Given the description of an element on the screen output the (x, y) to click on. 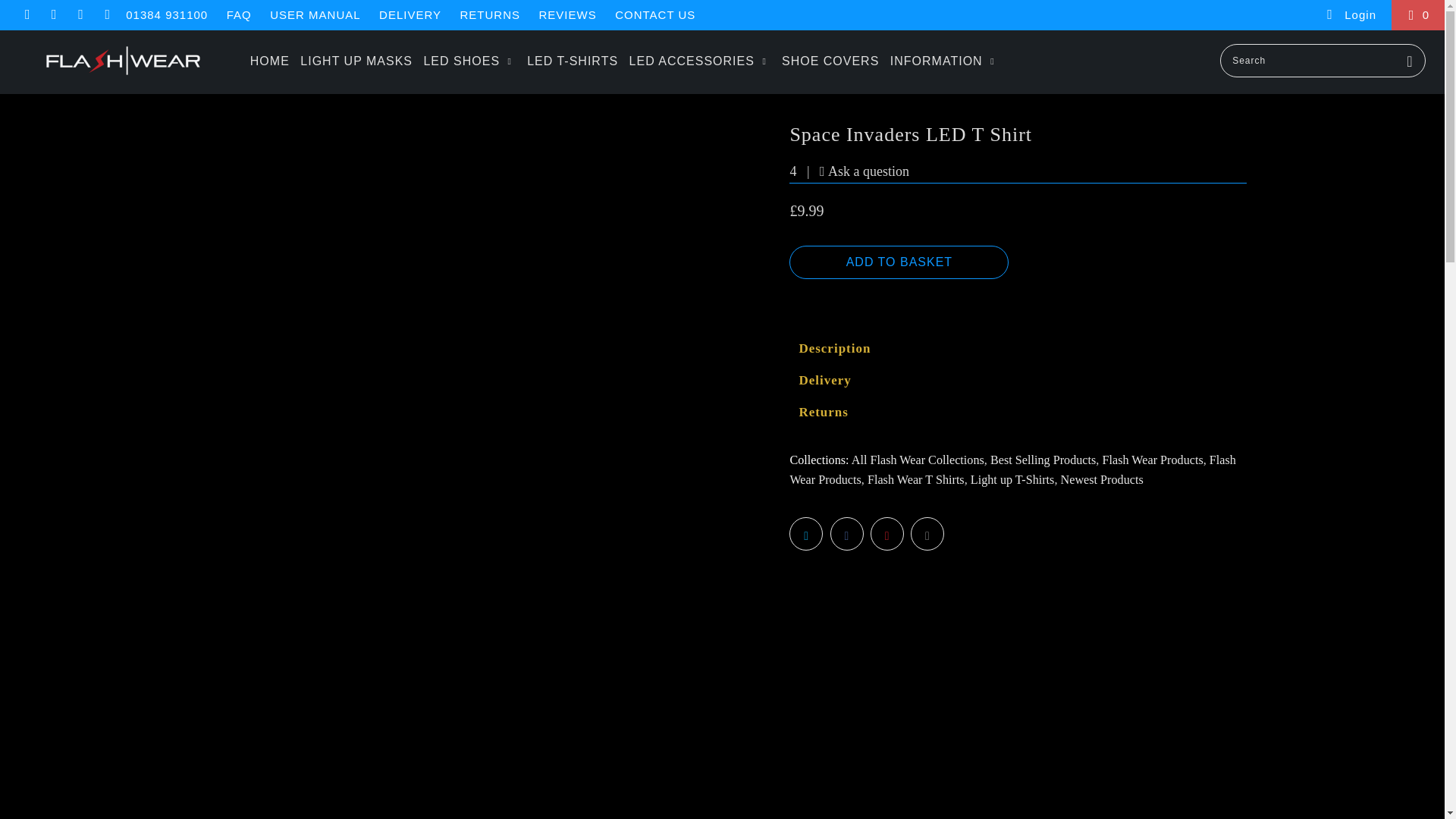
Light up T-Shirts (1012, 479)
My Account  (1350, 15)
Share this on Twitter (805, 533)
Best Selling Products (1043, 459)
Flash Wear (122, 60)
Share this on Pinterest (887, 533)
Flash Wear on YouTube (53, 15)
Flash Wear T Shirts (915, 479)
All Flash Wear Collections (917, 459)
Share this on Facebook (846, 533)
